Given the description of an element on the screen output the (x, y) to click on. 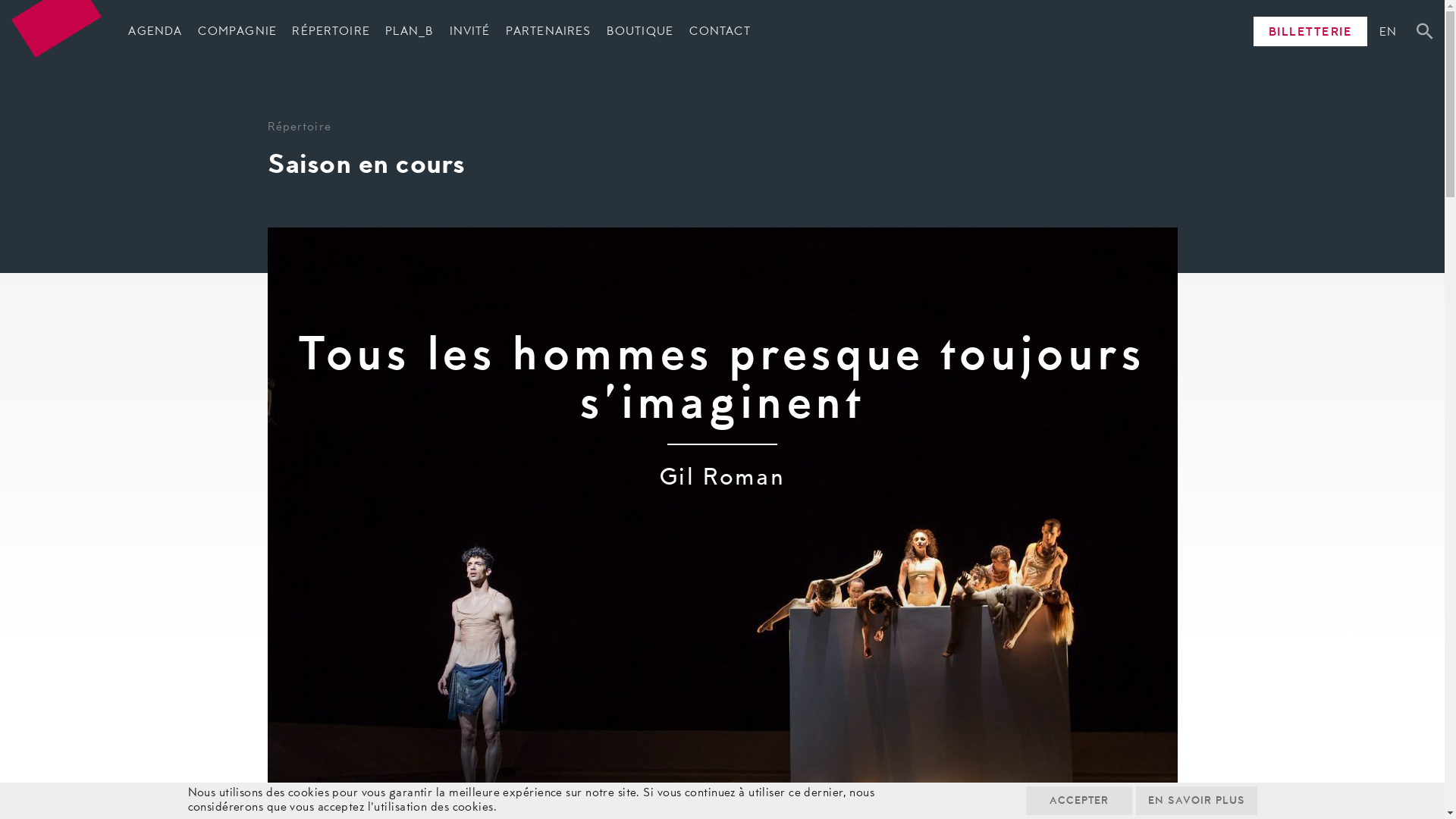
AGENDA Element type: text (155, 32)
ACCEPTER Element type: text (1078, 800)
BOUTIQUE Element type: text (639, 32)
CONTACT Element type: text (719, 32)
PLAN_B Element type: text (409, 32)
EN SAVOIR PLUS Element type: text (1196, 800)
COMPAGNIE Element type: text (236, 32)
BILLETTERIE Element type: text (1310, 31)
PARTENAIRES Element type: text (548, 32)
EN Element type: text (1391, 32)
